Given the description of an element on the screen output the (x, y) to click on. 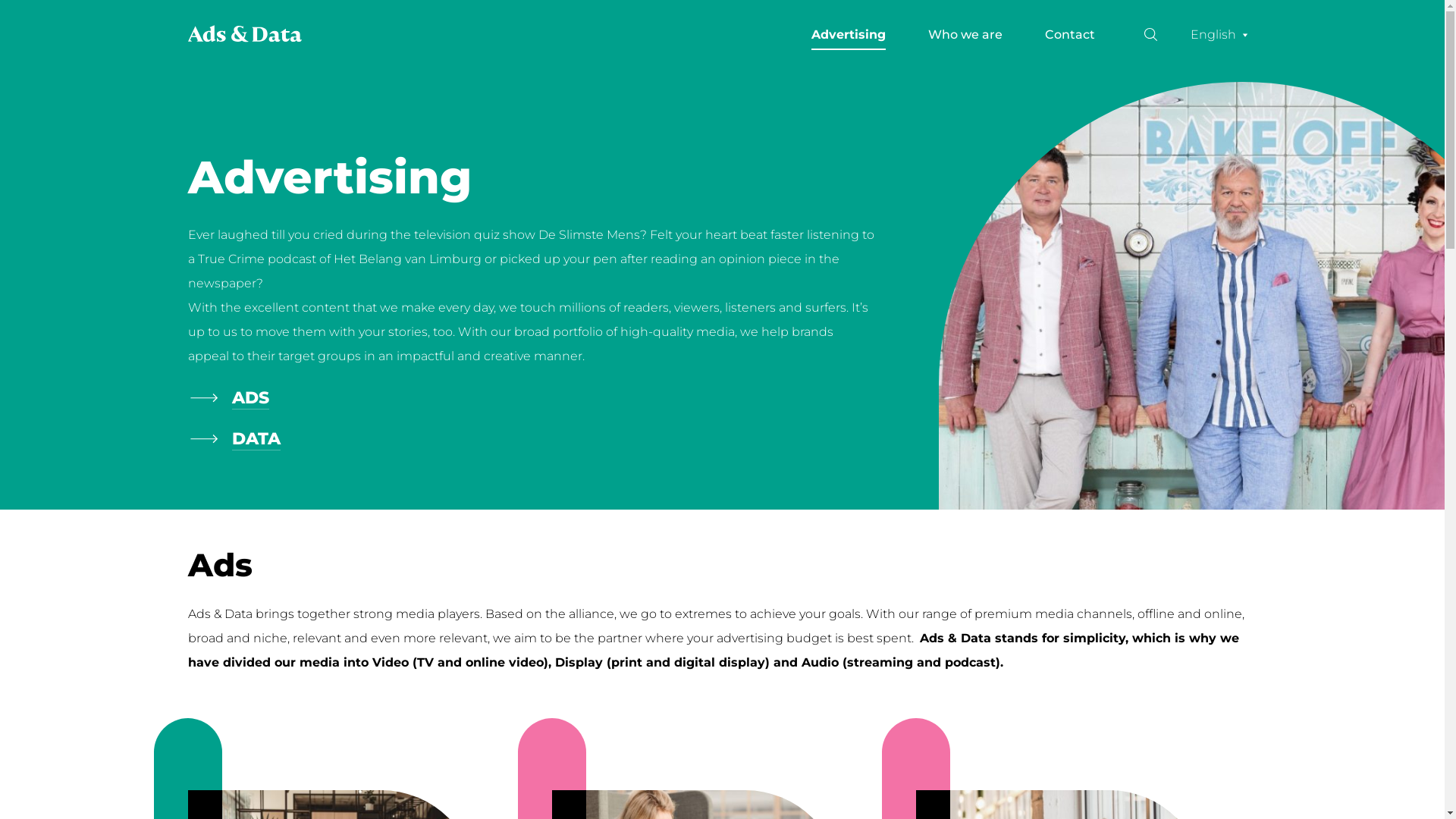
DATA Element type: text (256, 438)
Home Element type: hover (244, 33)
Who we are Element type: text (965, 34)
Contact Element type: text (1069, 34)
Search Element type: text (1277, 35)
Advertising Element type: text (848, 34)
ADS Element type: text (250, 397)
